Given the description of an element on the screen output the (x, y) to click on. 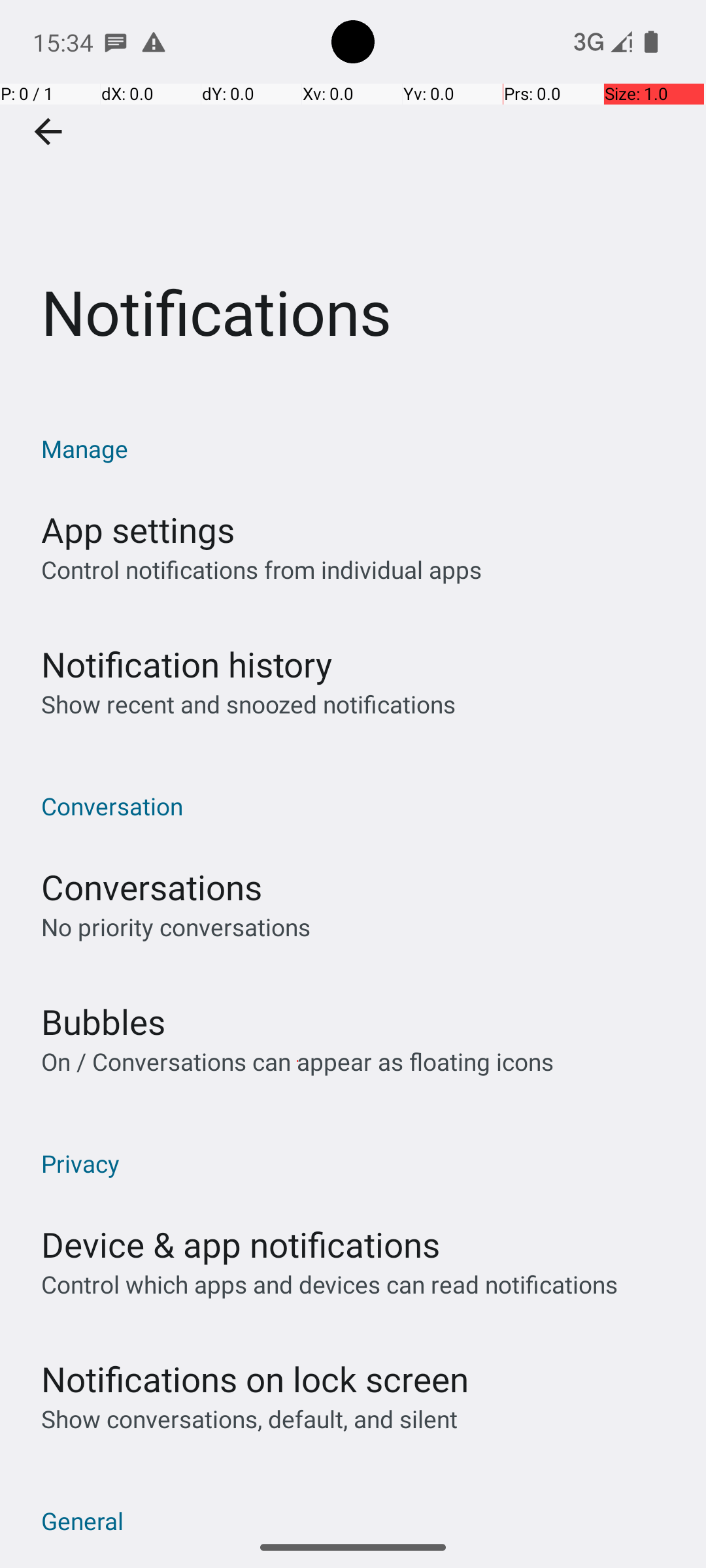
On / Conversations can appear as floating icons Element type: android.widget.TextView (297, 1061)
Show conversations, default, and silent Element type: android.widget.TextView (249, 1418)
